Given the description of an element on the screen output the (x, y) to click on. 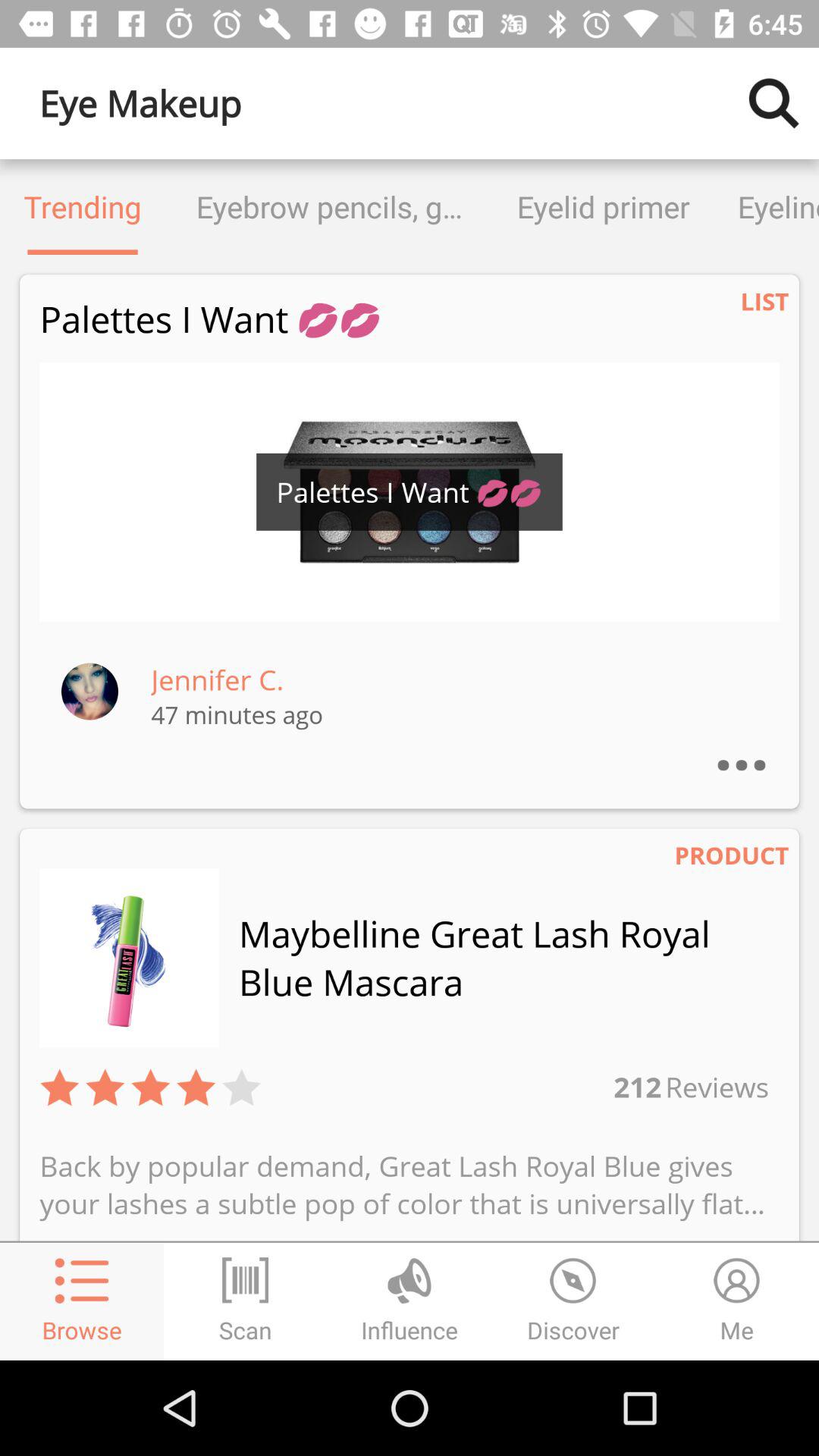
search for item (773, 103)
